Given the description of an element on the screen output the (x, y) to click on. 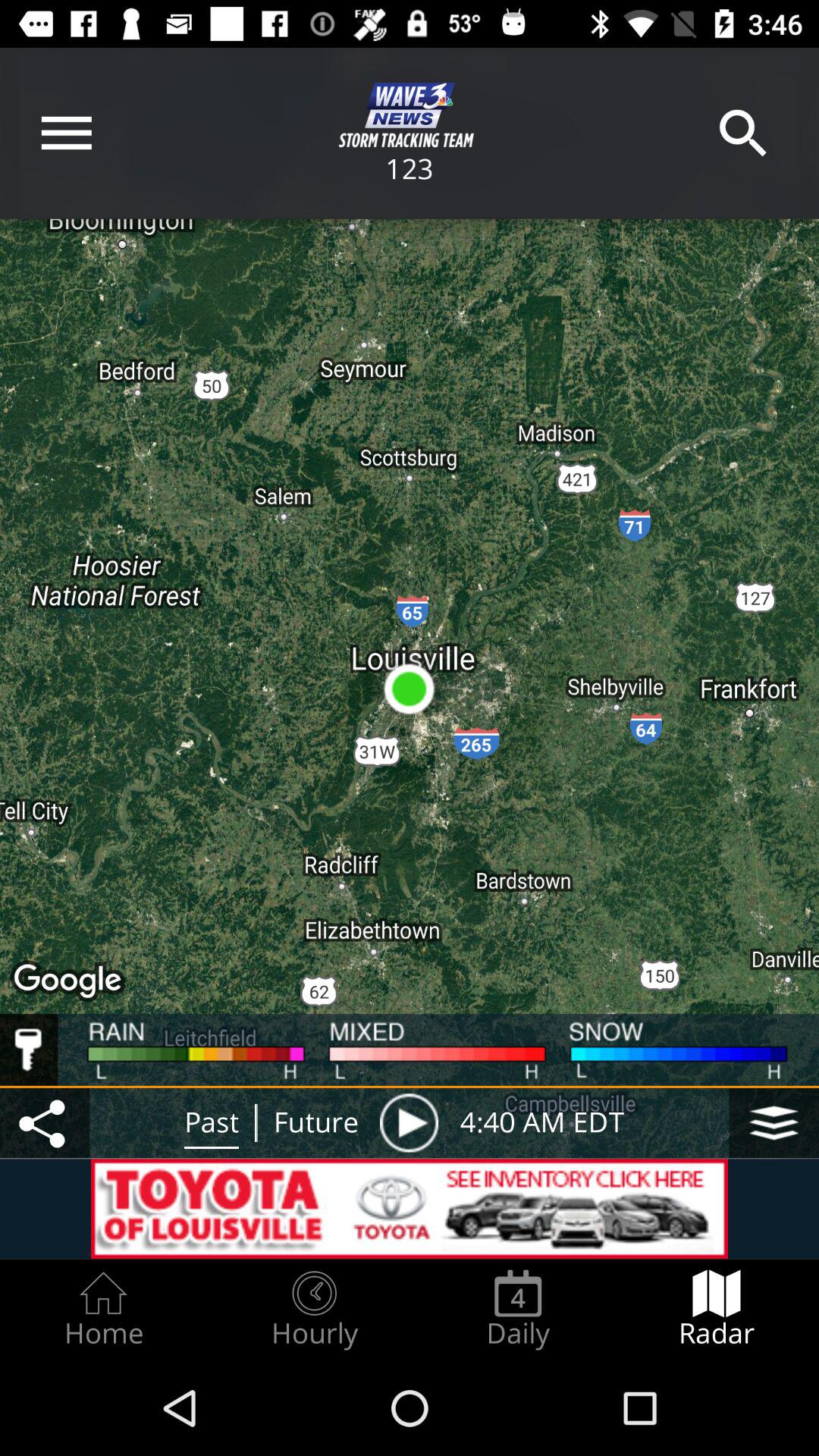
launch radio button to the right of the hourly icon (518, 1309)
